Given the description of an element on the screen output the (x, y) to click on. 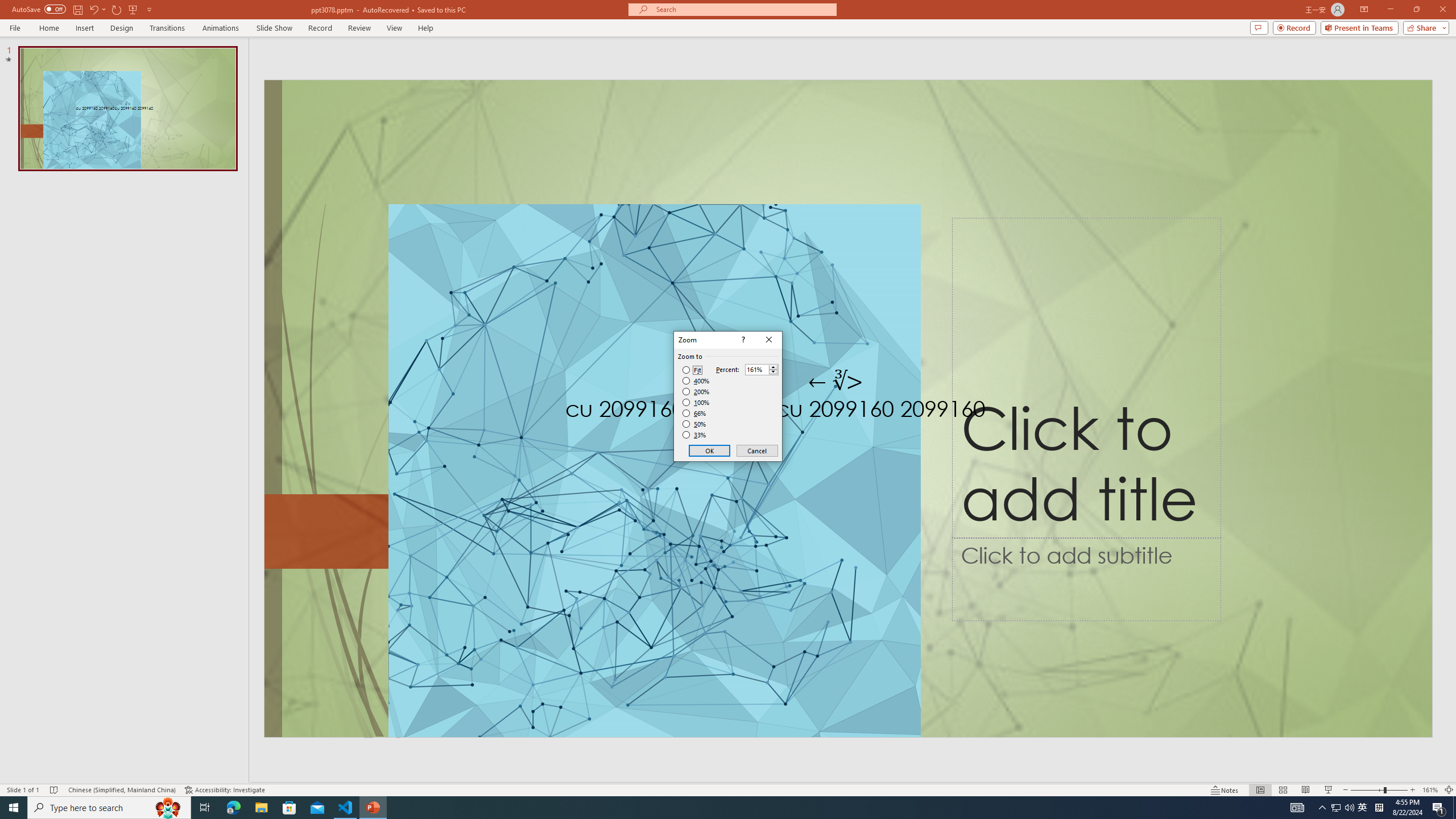
Context help (742, 339)
